Given the description of an element on the screen output the (x, y) to click on. 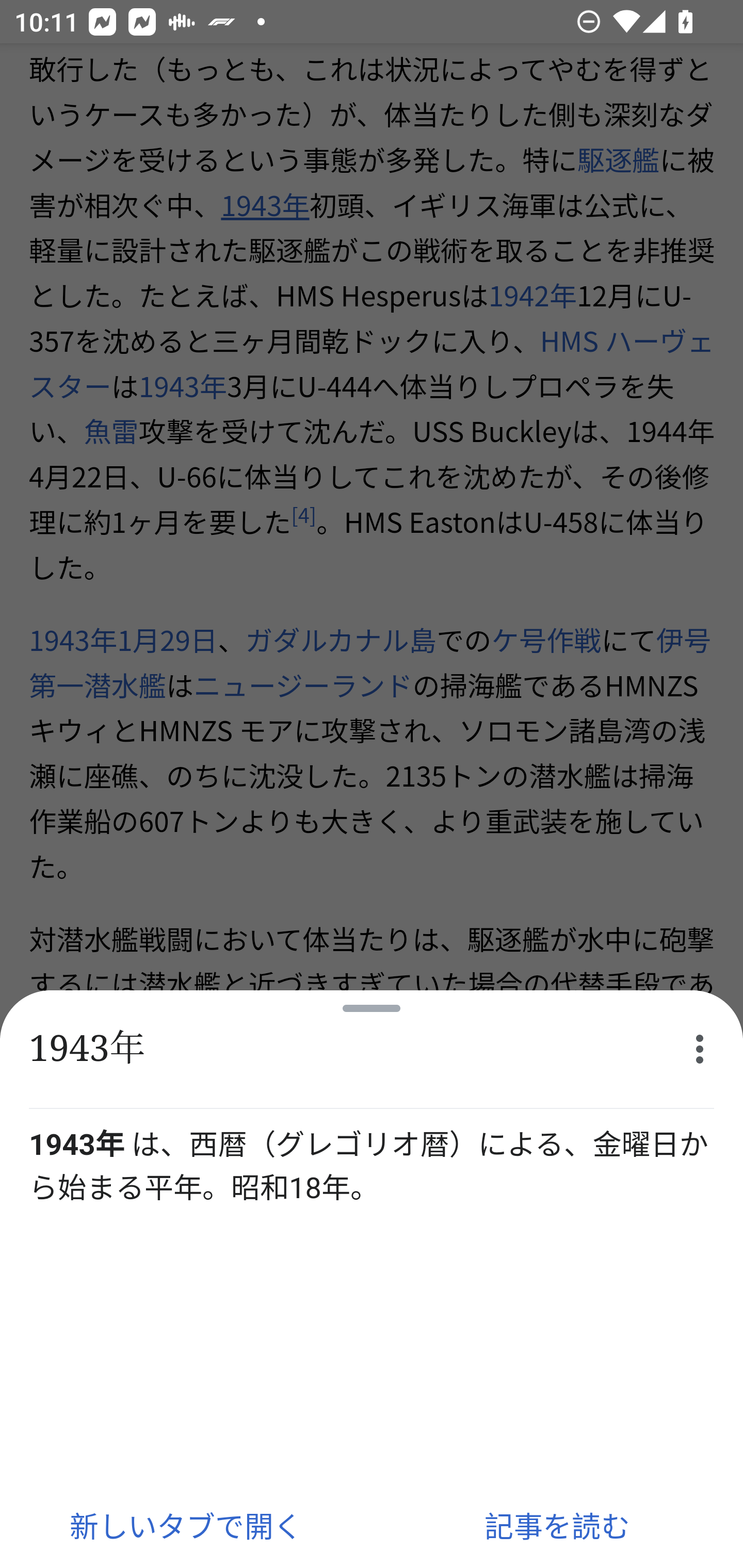
1943年 More options (371, 1049)
More options (699, 1048)
新しいタブで開く (185, 1524)
記事を読む (557, 1524)
